Given the description of an element on the screen output the (x, y) to click on. 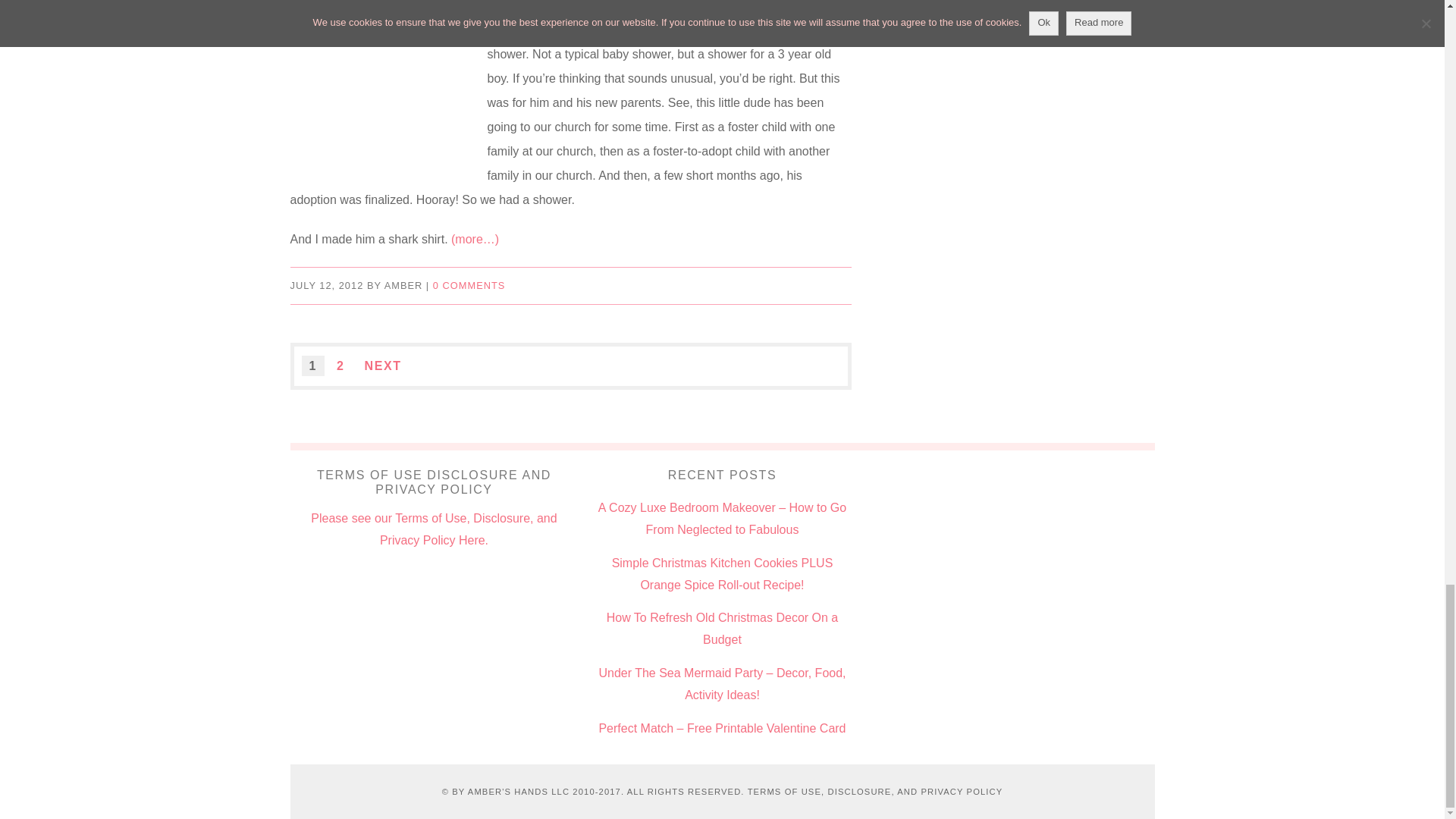
boys shark shirt byambershands.wordpress.com (380, 79)
2 (340, 365)
NEXT (382, 365)
0 COMMENTS (468, 285)
